Given the description of an element on the screen output the (x, y) to click on. 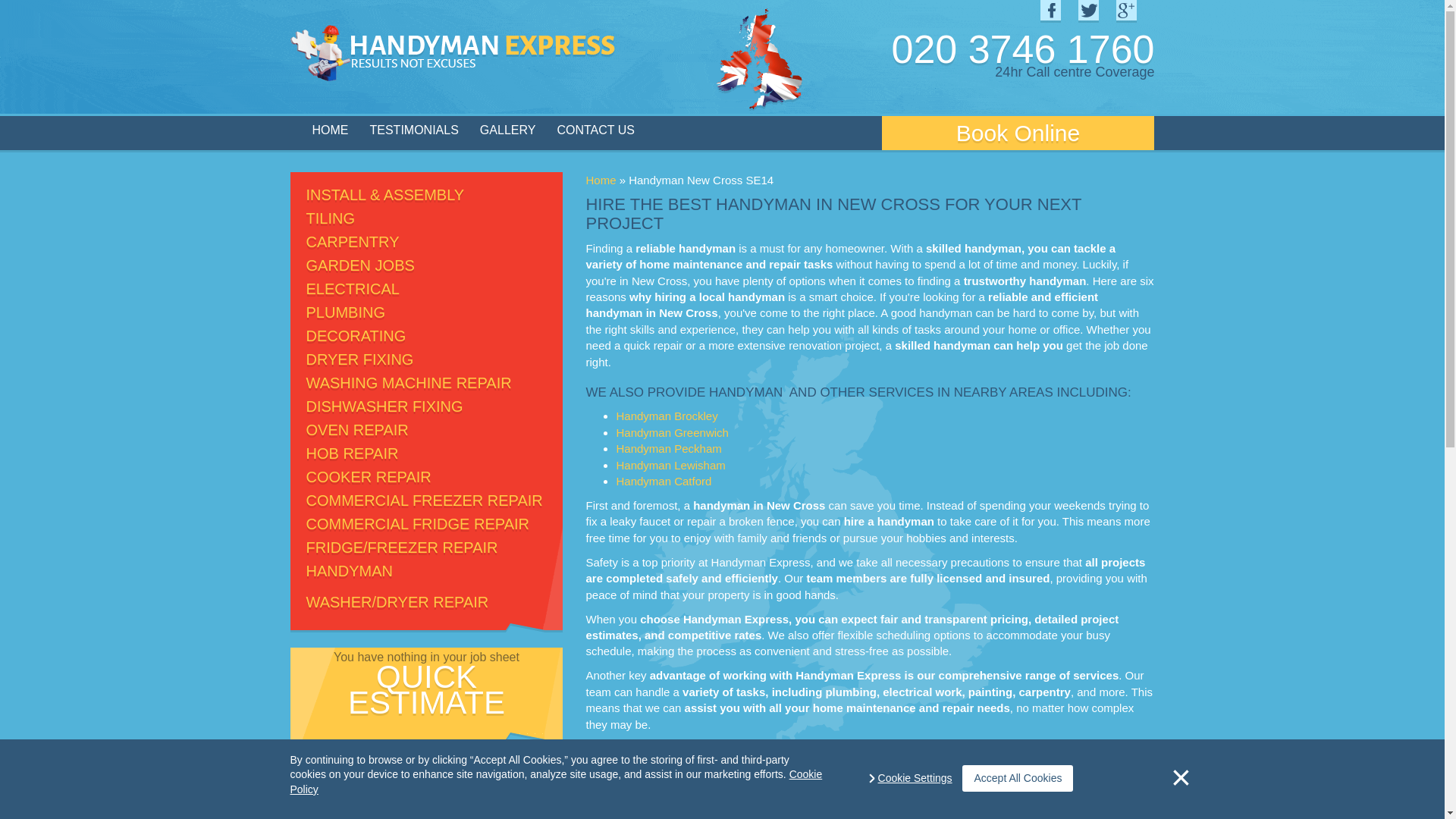
CONTACT US (595, 130)
Gallery (507, 130)
Handyman London (330, 130)
Book Online (1017, 132)
TILING (330, 217)
Book online (1017, 132)
CARPENTRY (351, 241)
Contact Details (595, 130)
HOME (330, 130)
Wall and Floor Tiling Services (330, 217)
